Given the description of an element on the screen output the (x, y) to click on. 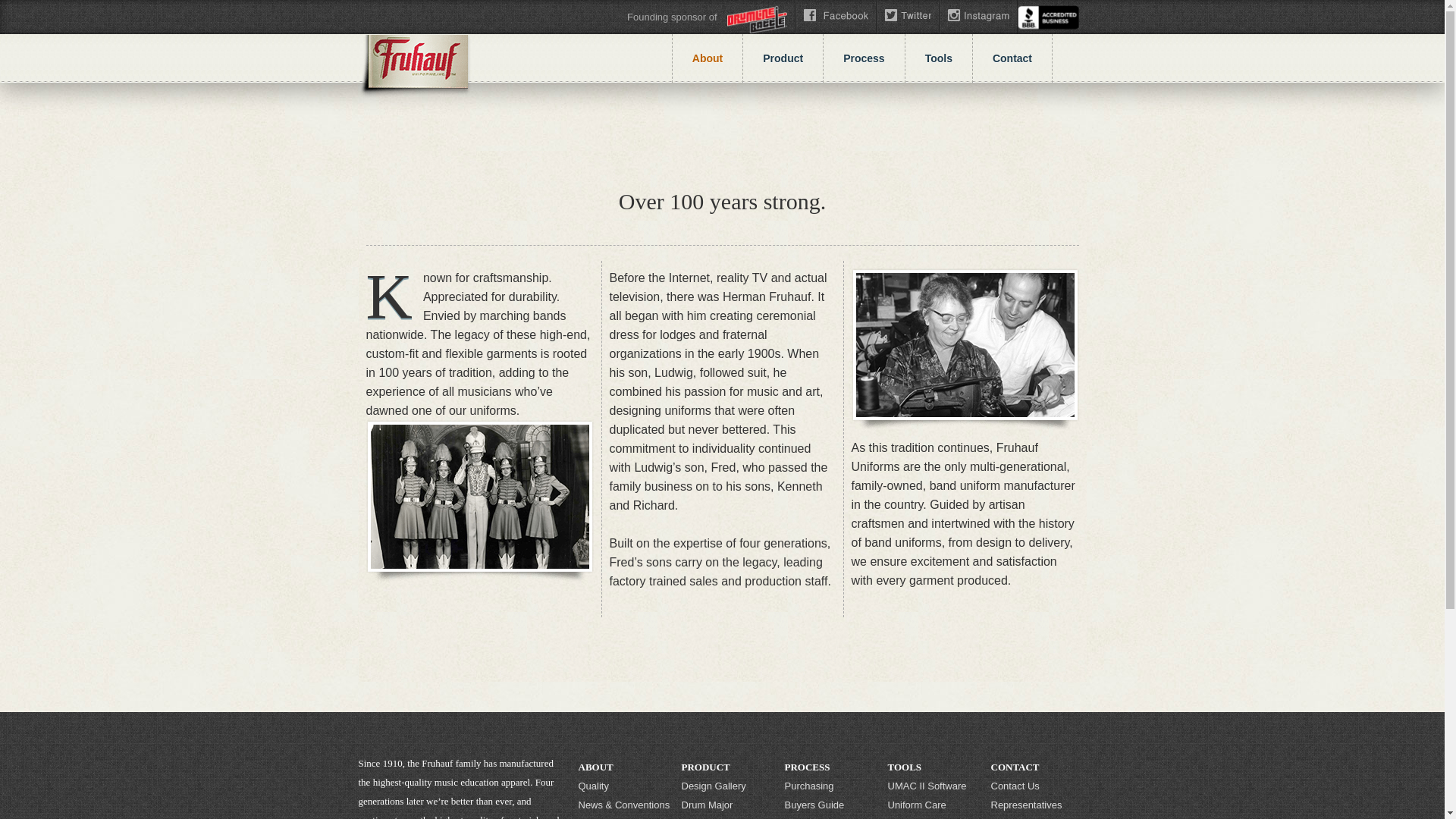
UMAC II Software (934, 785)
Product (783, 58)
ABOUT (625, 766)
Tools (938, 58)
Design Gallery (728, 785)
About (706, 58)
Contact (1012, 58)
Drum Major (728, 804)
Founding sponsor of (707, 17)
Quality (625, 785)
PRODUCT (728, 766)
TOOLS (934, 766)
Mission (625, 816)
Process (864, 58)
Purchasing (831, 785)
